Given the description of an element on the screen output the (x, y) to click on. 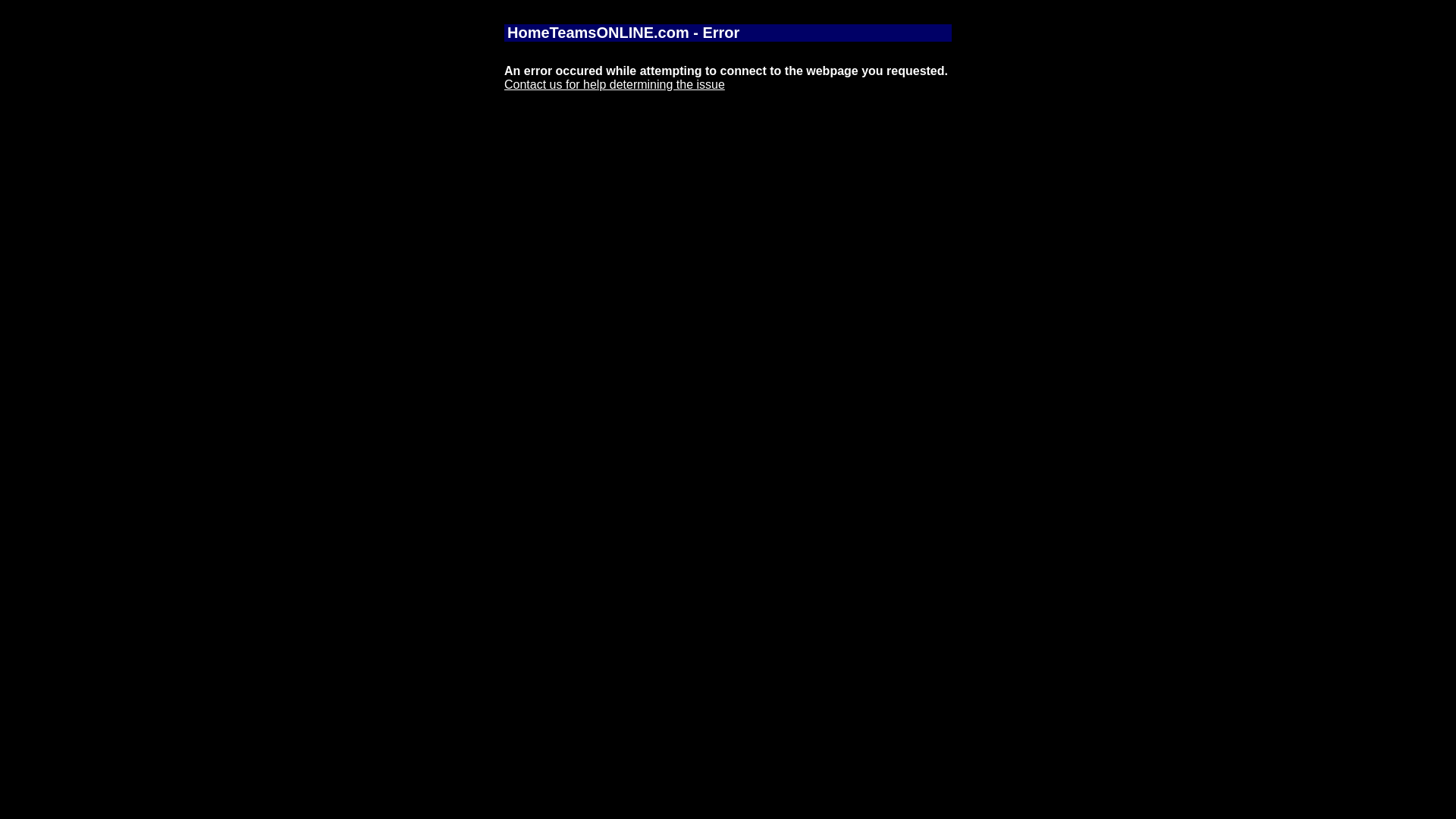
Contact us for help determining the issue Element type: text (614, 84)
